Given the description of an element on the screen output the (x, y) to click on. 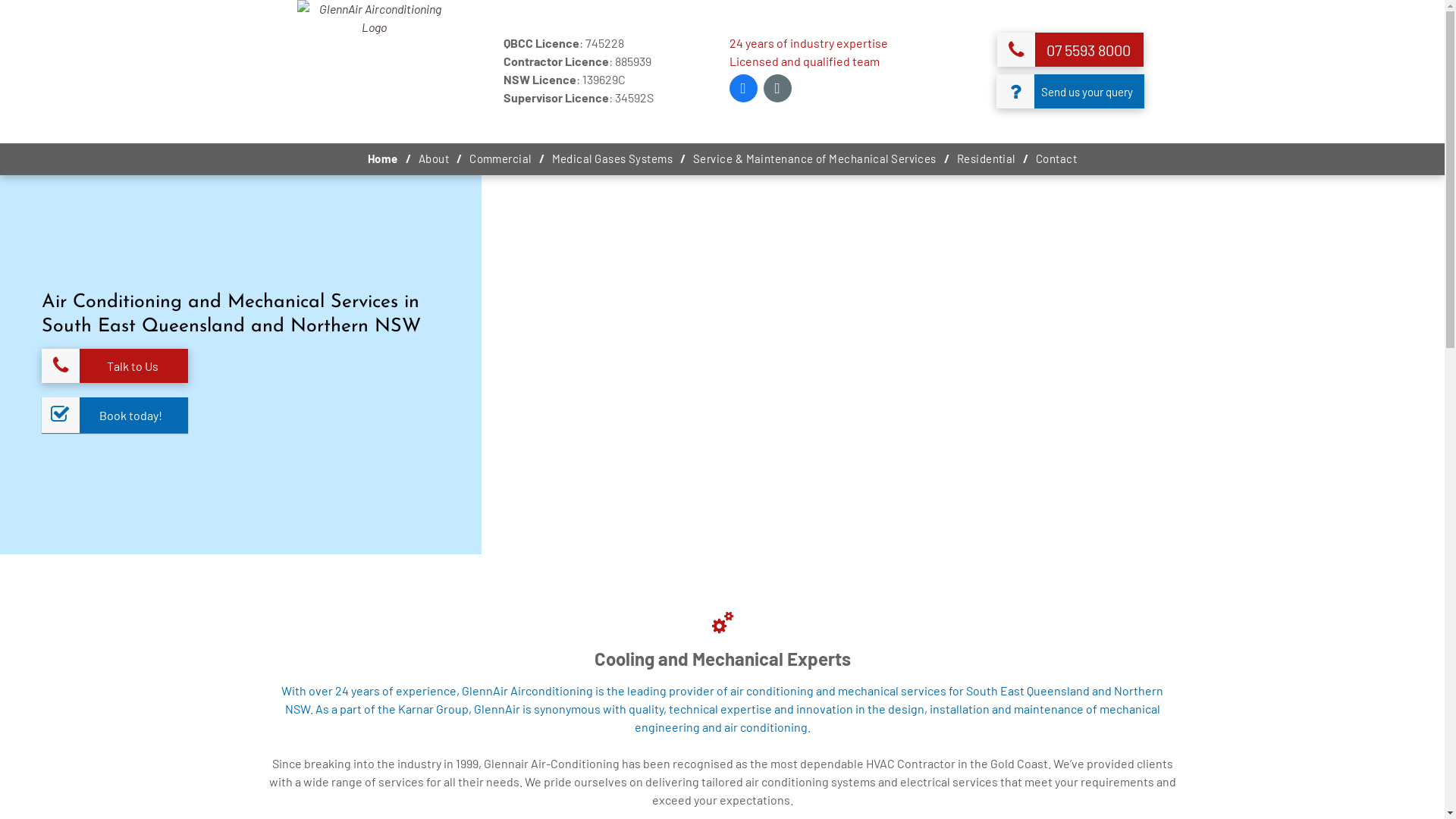
07 5593 8000 Element type: text (1070, 49)
Commercial Element type: text (500, 158)
Home Element type: text (382, 158)
Send us your query Element type: text (1070, 91)
Talk to Us Element type: text (114, 365)
Medical Gases Systems Element type: text (612, 158)
Service & Maintenance of Mechanical Services Element type: text (814, 158)
Contact Element type: text (1056, 158)
Residential Element type: text (985, 158)
About Element type: text (433, 158)
Book today! Element type: text (114, 415)
